Given the description of an element on the screen output the (x, y) to click on. 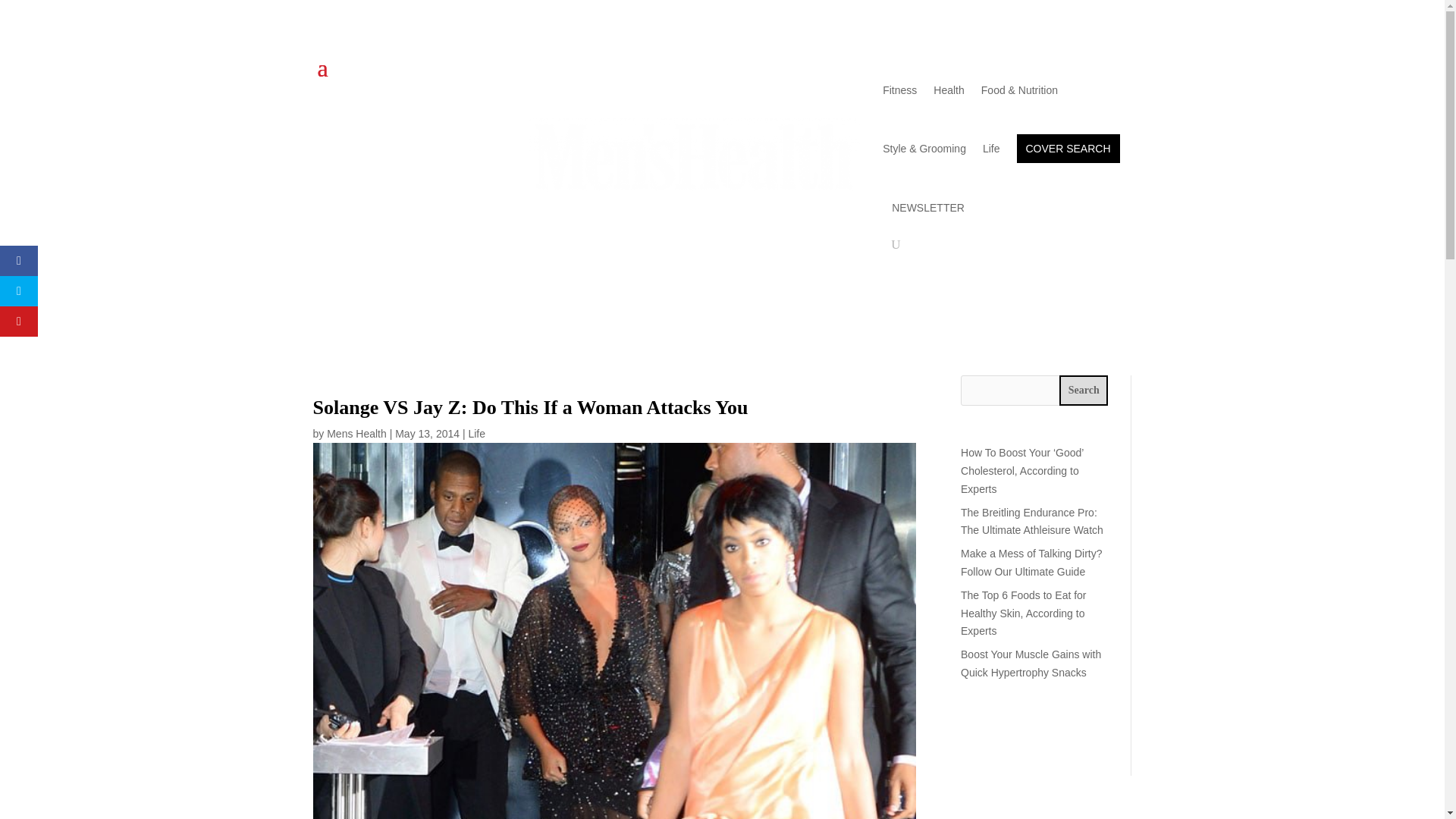
Posts by Mens Health (356, 433)
Mens Health (356, 433)
COVER SEARCH (1067, 148)
NEWSLETTER (928, 207)
Search (1083, 390)
Life (475, 433)
